Given the description of an element on the screen output the (x, y) to click on. 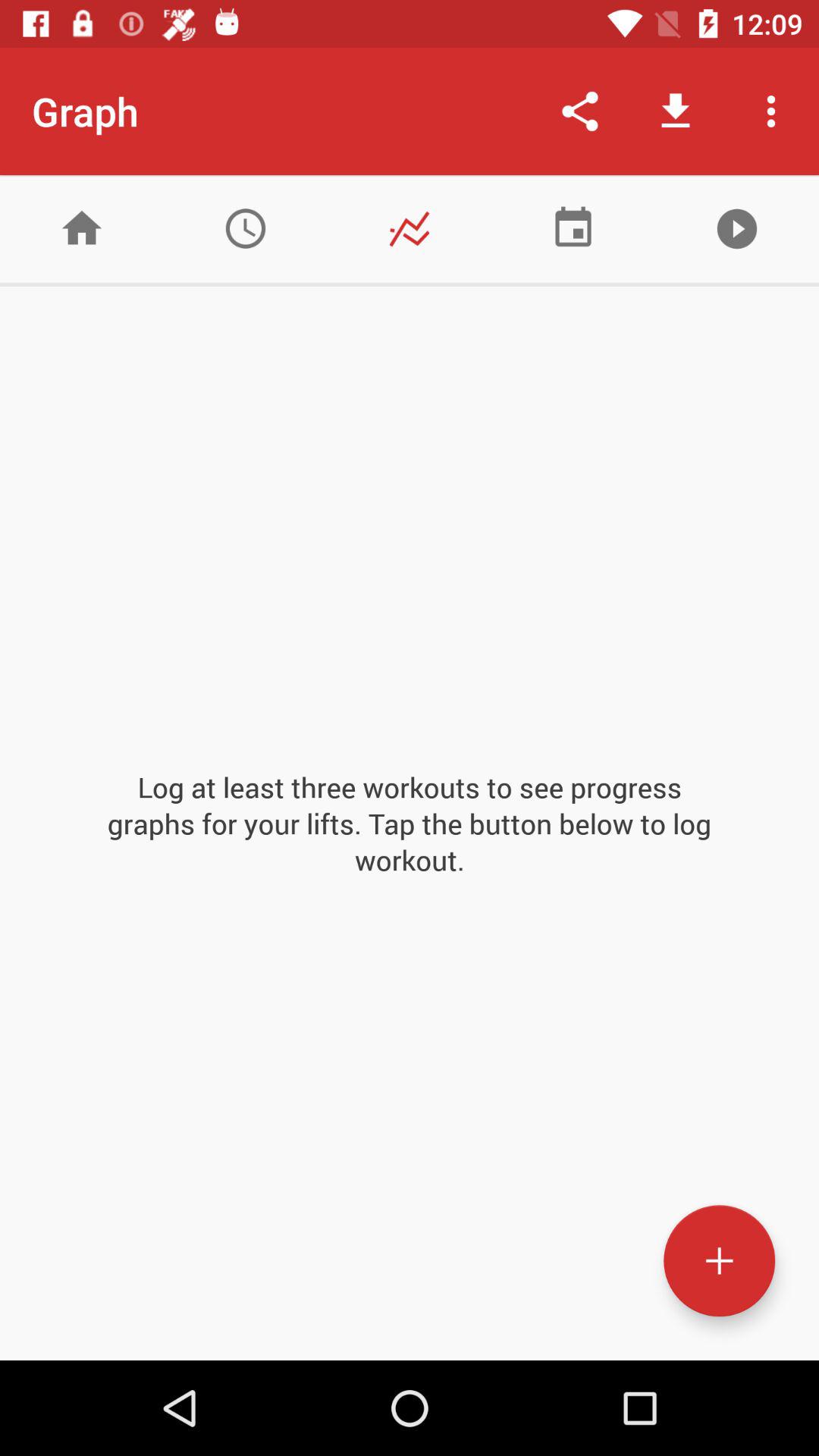
he house for home (81, 228)
